Given the description of an element on the screen output the (x, y) to click on. 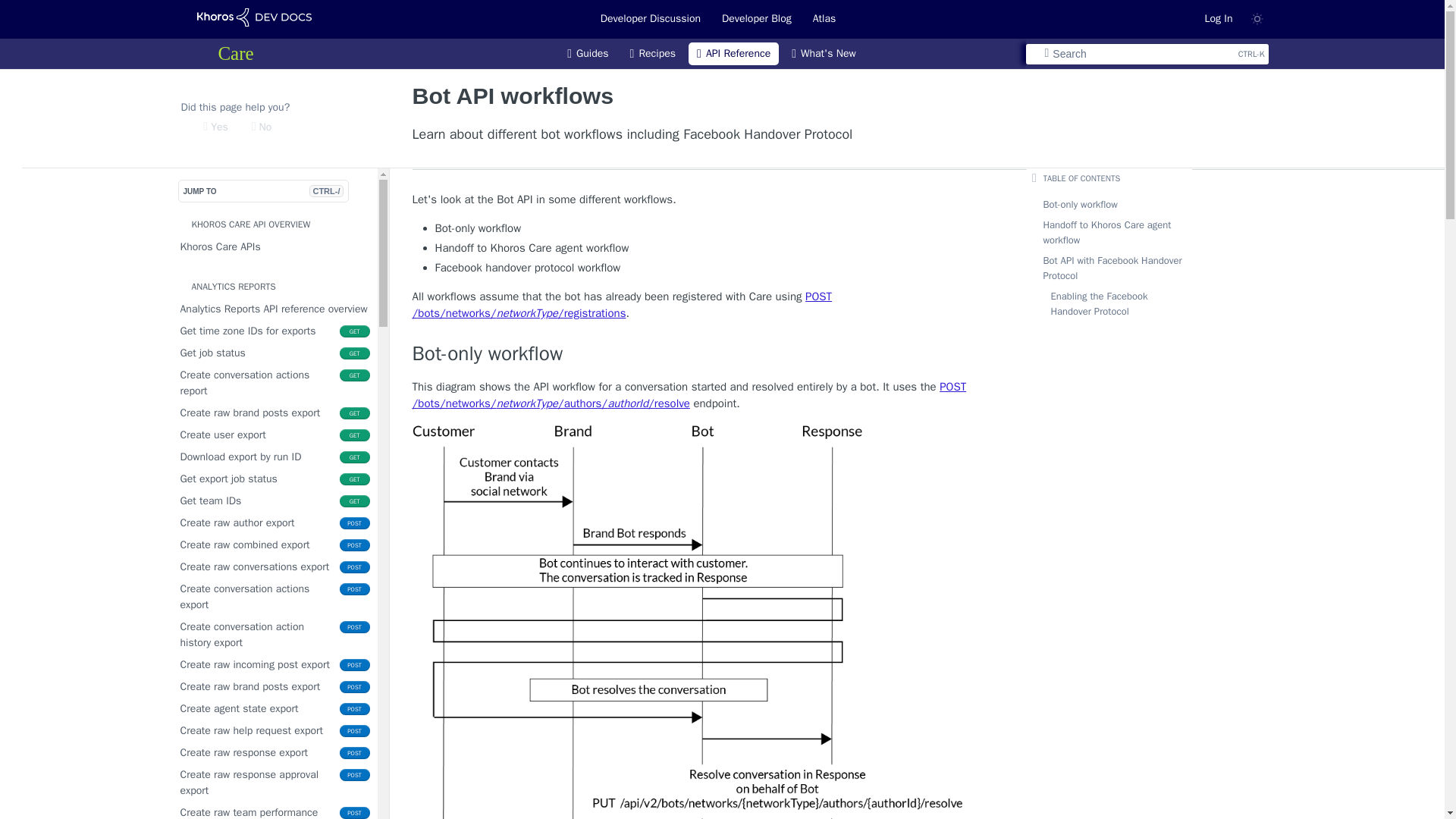
Khoros Care APIs (277, 246)
Developer Blog (277, 500)
API Reference (756, 18)
Recipes (277, 522)
Developer Discussion (733, 53)
botApiBotResolveFlow.png (277, 382)
What's New (277, 456)
